Given the description of an element on the screen output the (x, y) to click on. 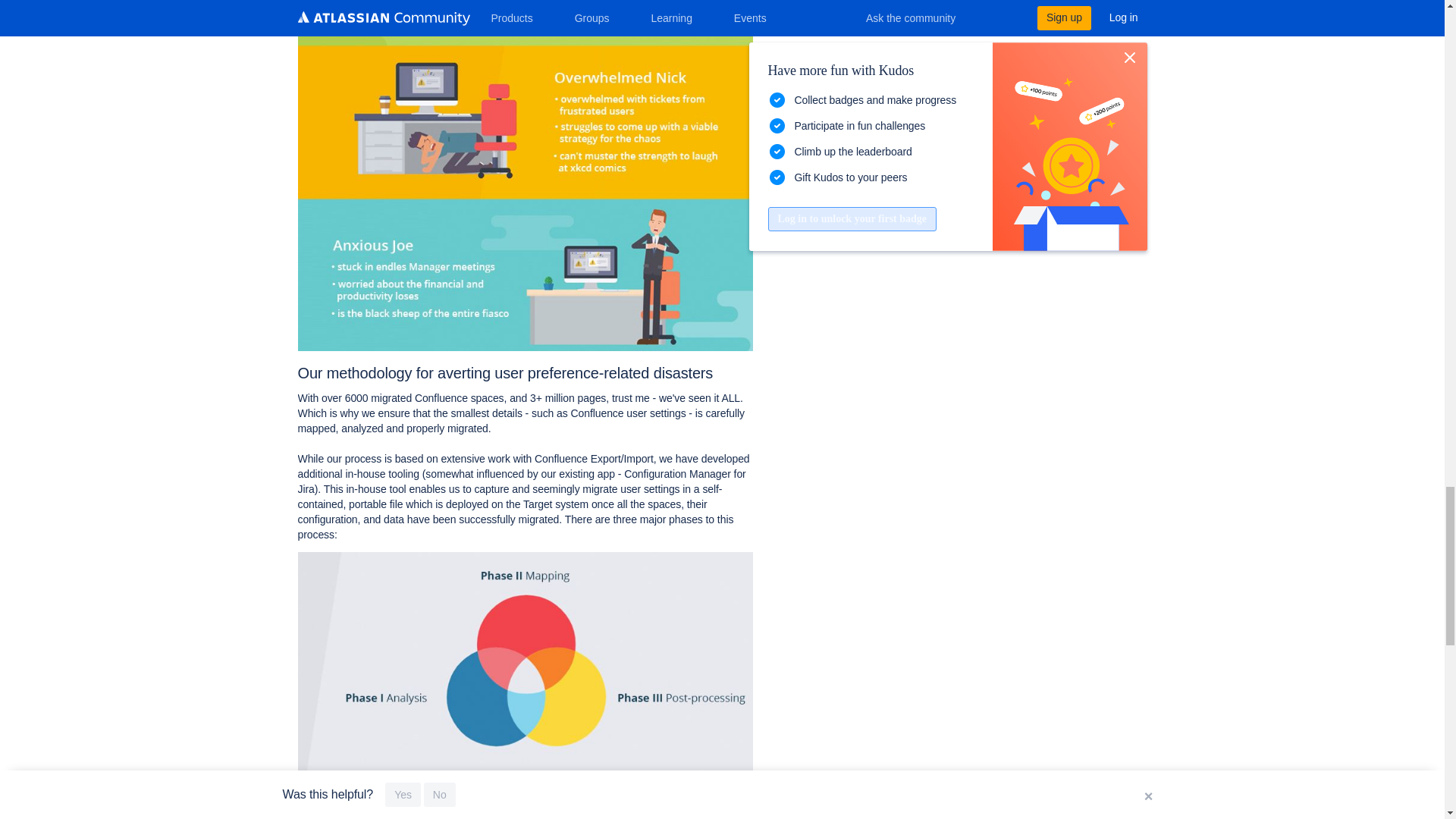
confluence-migration-phases.jpg (524, 671)
